Given the description of an element on the screen output the (x, y) to click on. 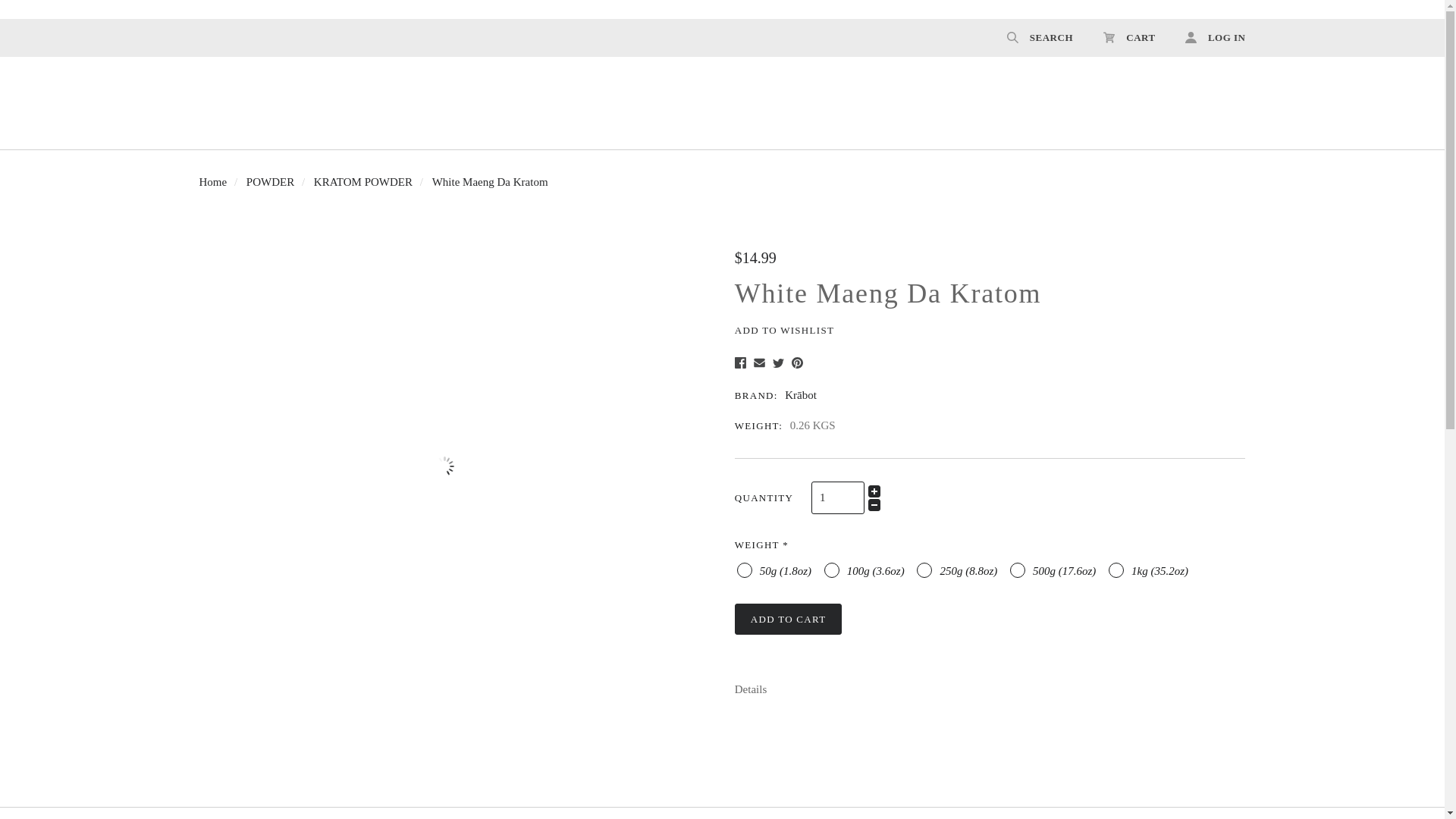
SEARCH (1039, 37)
LOG IN (1208, 37)
CART (1128, 37)
1 (837, 497)
